Given the description of an element on the screen output the (x, y) to click on. 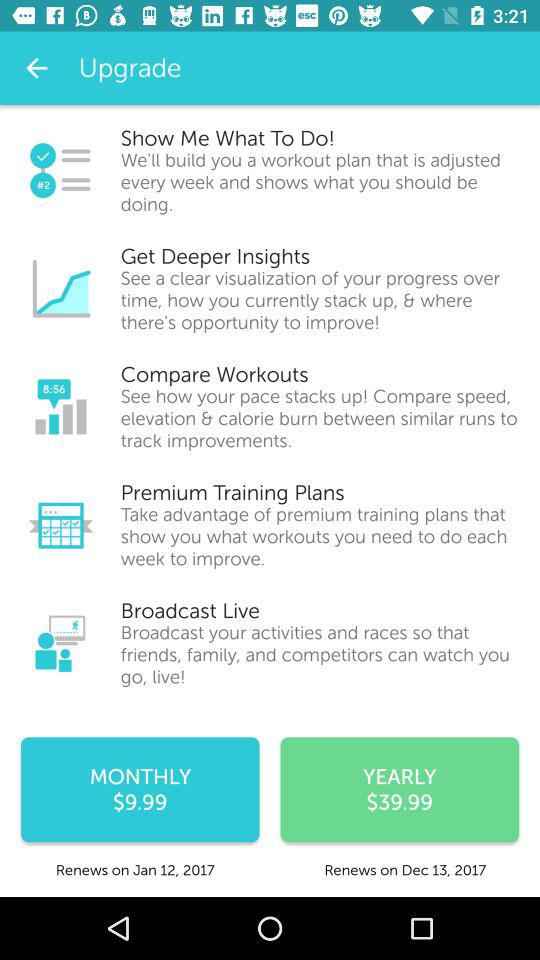
jump until the monthly
$9.99 icon (140, 789)
